Given the description of an element on the screen output the (x, y) to click on. 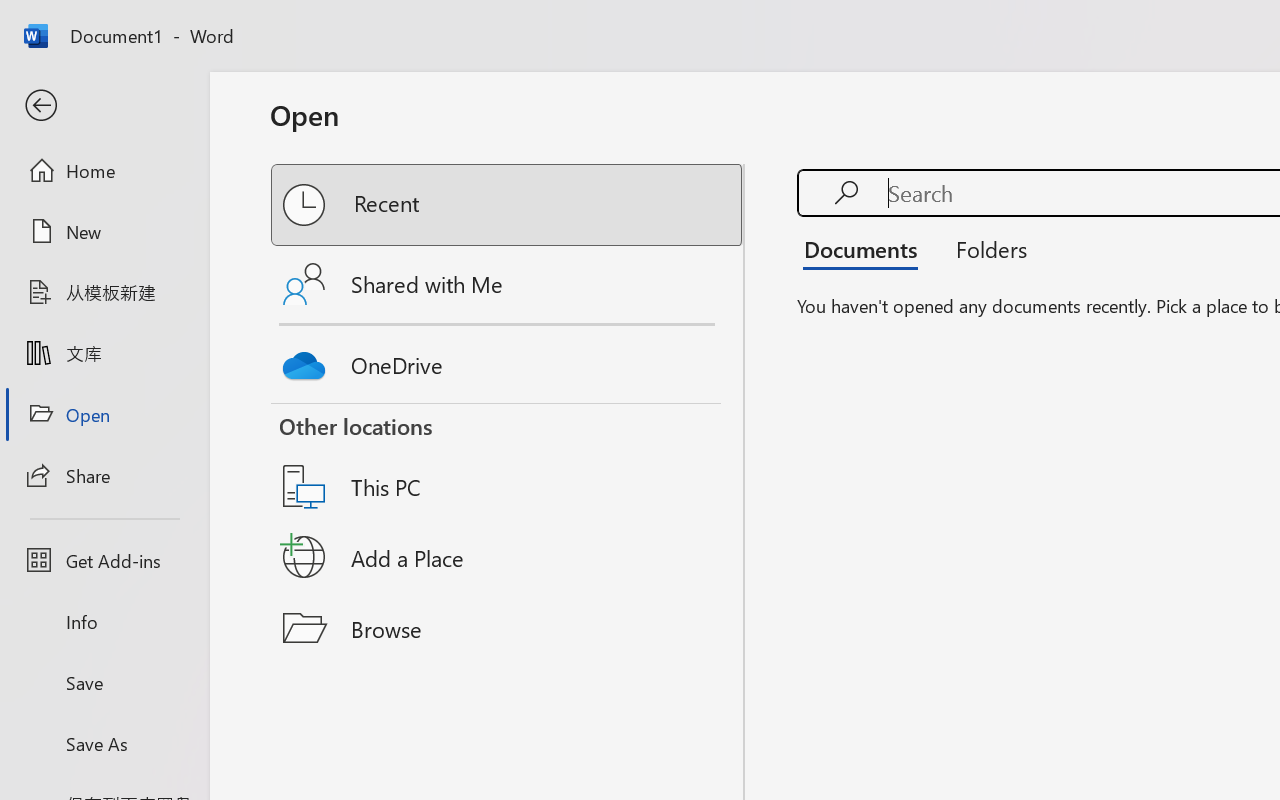
Shared with Me (507, 283)
Save As (104, 743)
OneDrive (507, 359)
Info (104, 621)
Folders (984, 248)
Add a Place (507, 557)
Documents (866, 248)
Recent (507, 205)
Get Add-ins (104, 560)
